Given the description of an element on the screen output the (x, y) to click on. 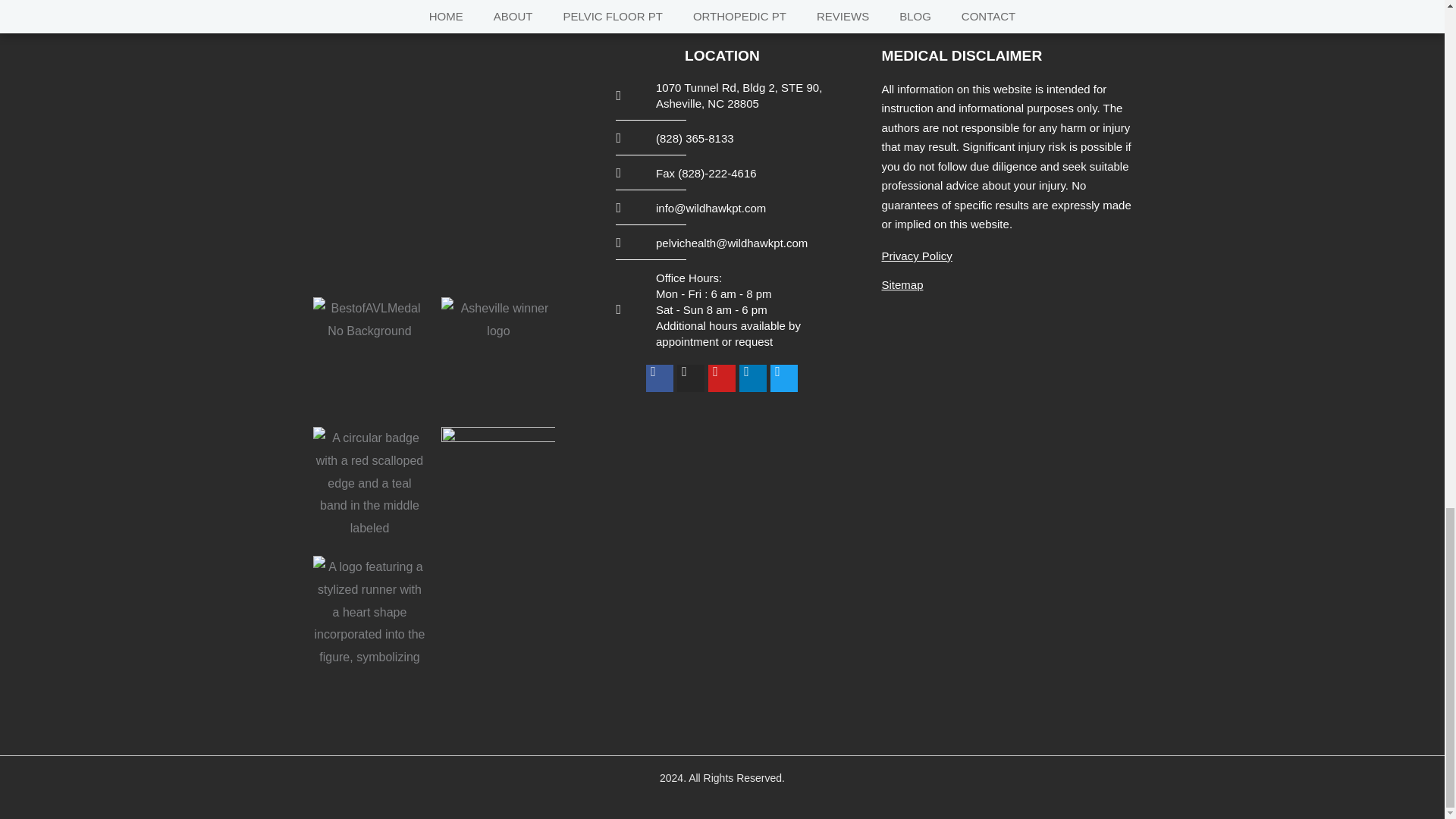
Wildhawk physical therapy, 1070 tunnel rd, Ashville, NC (433, 160)
